Given the description of an element on the screen output the (x, y) to click on. 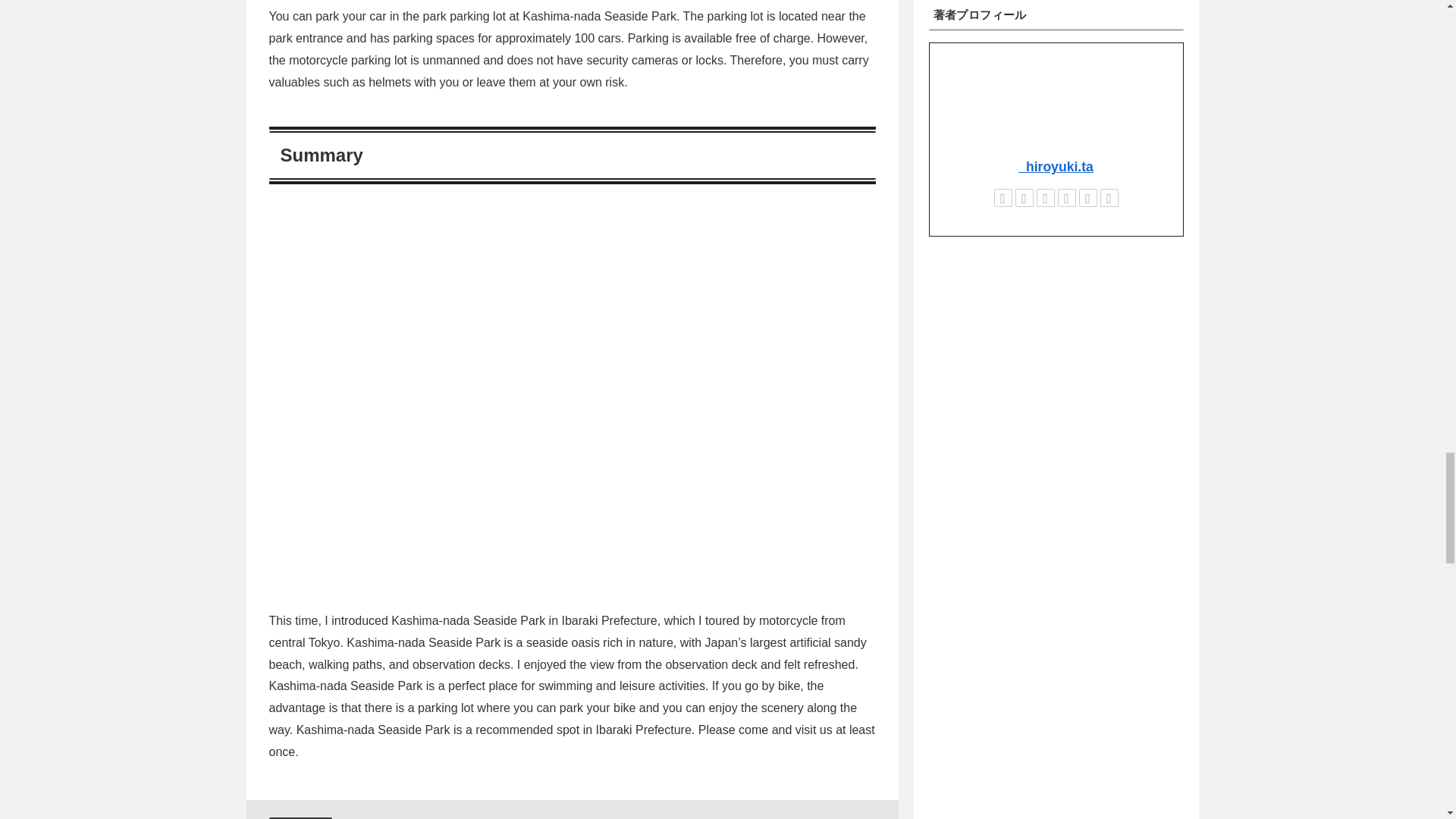
touring spot (299, 818)
